Given the description of an element on the screen output the (x, y) to click on. 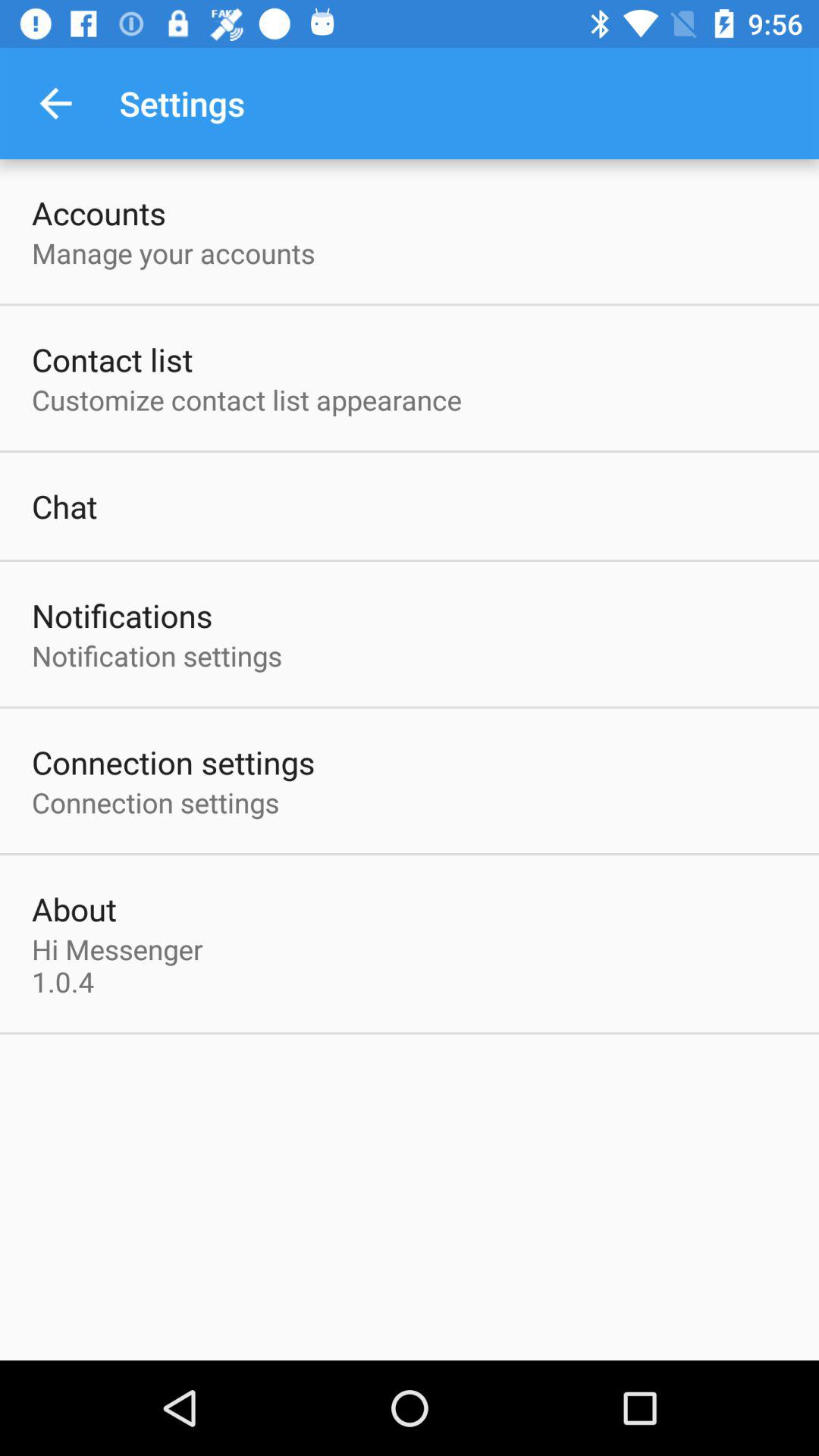
choose the about item (73, 908)
